Given the description of an element on the screen output the (x, y) to click on. 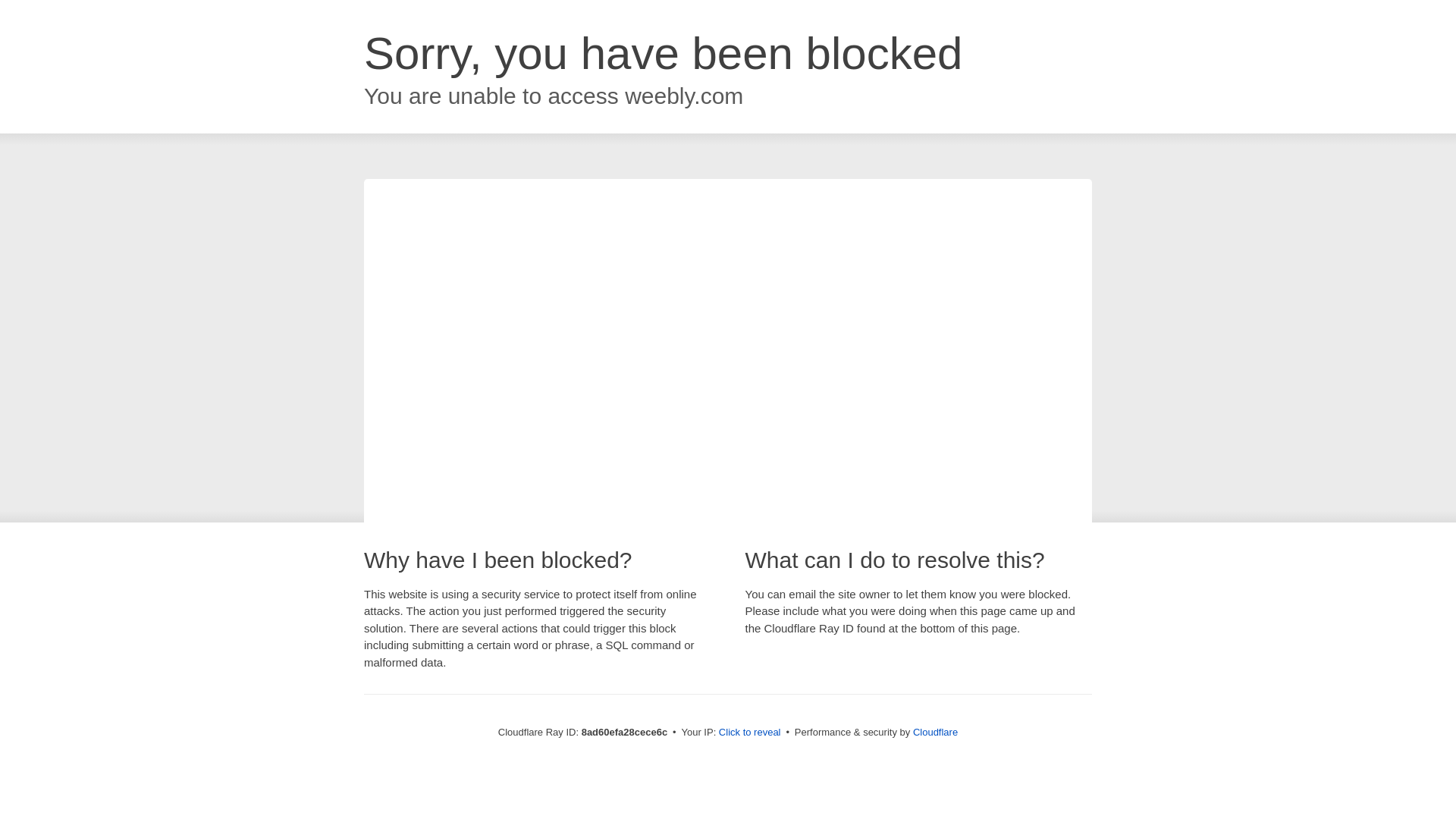
Click to reveal (749, 732)
Cloudflare (935, 731)
